Given the description of an element on the screen output the (x, y) to click on. 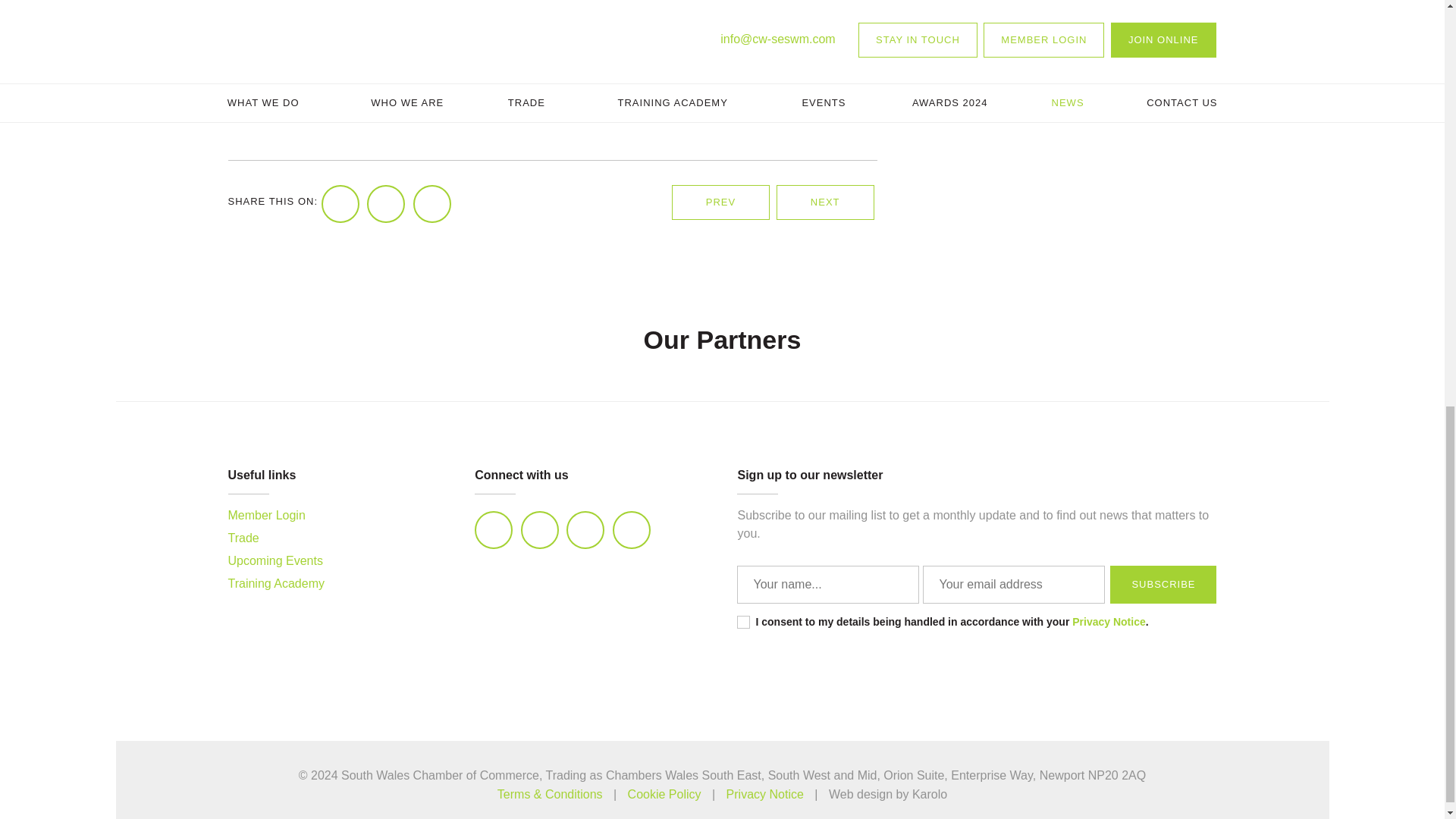
Share on Twitter (385, 203)
Find us on LinkedIn (493, 529)
Find us on Facebook (585, 529)
Share on Facebook (340, 203)
Find us on Twitter (540, 529)
Find us on YouTube (631, 529)
Share on LinkedIn (432, 203)
